Given the description of an element on the screen output the (x, y) to click on. 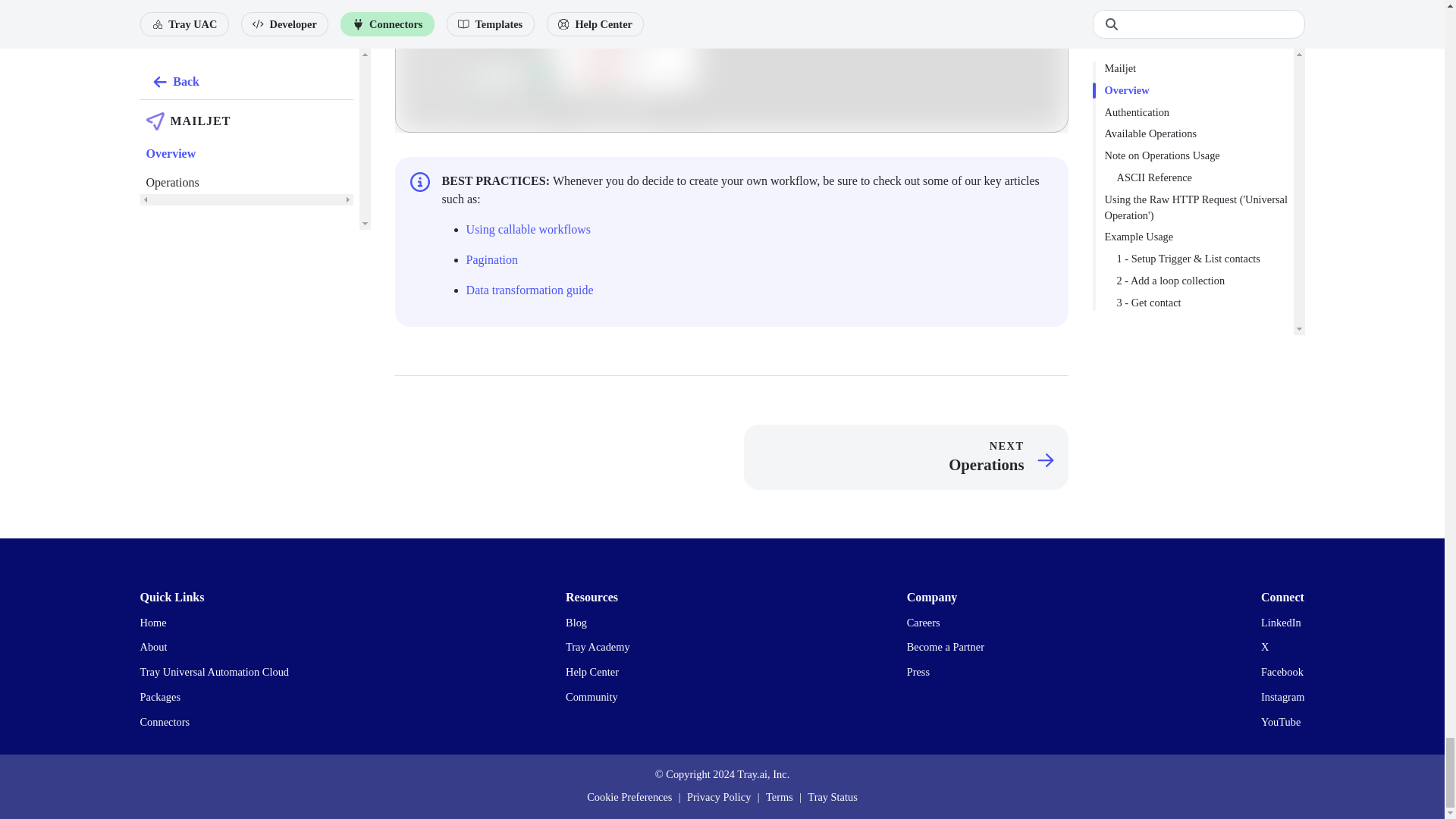
Data transformation guide (529, 289)
Using callable workflows (528, 228)
Pagination (491, 259)
